Given the description of an element on the screen output the (x, y) to click on. 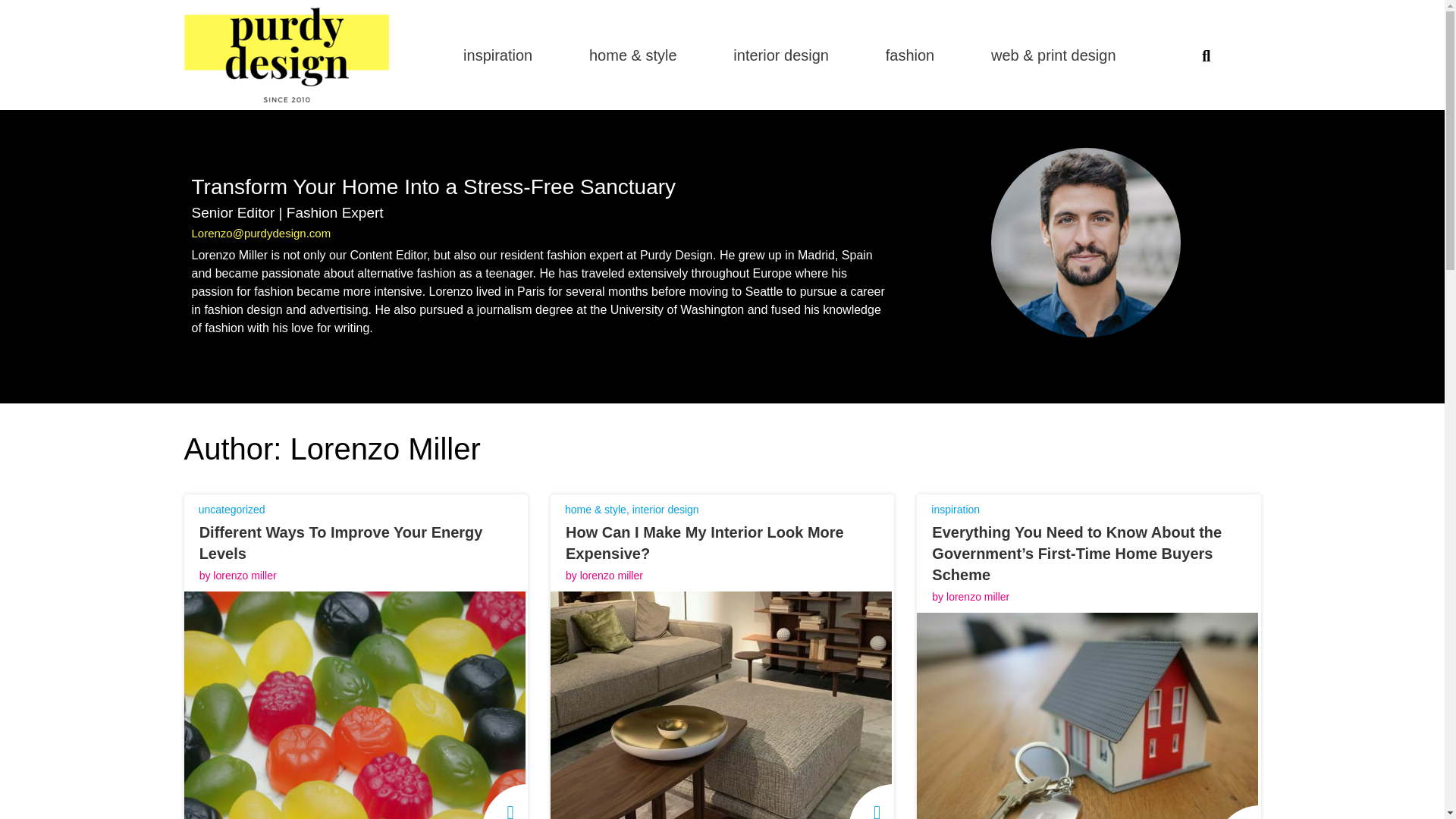
inspiration (497, 54)
uncategorized (231, 509)
Different Ways To Improve Your Energy Levels (341, 542)
by lorenzo miller (596, 575)
inspiration (955, 509)
interior design (780, 54)
by lorenzo miller (963, 596)
How Can I Make My Interior Look More Expensive? (705, 542)
interior design (664, 509)
by lorenzo miller (230, 575)
fashion (909, 54)
